Given the description of an element on the screen output the (x, y) to click on. 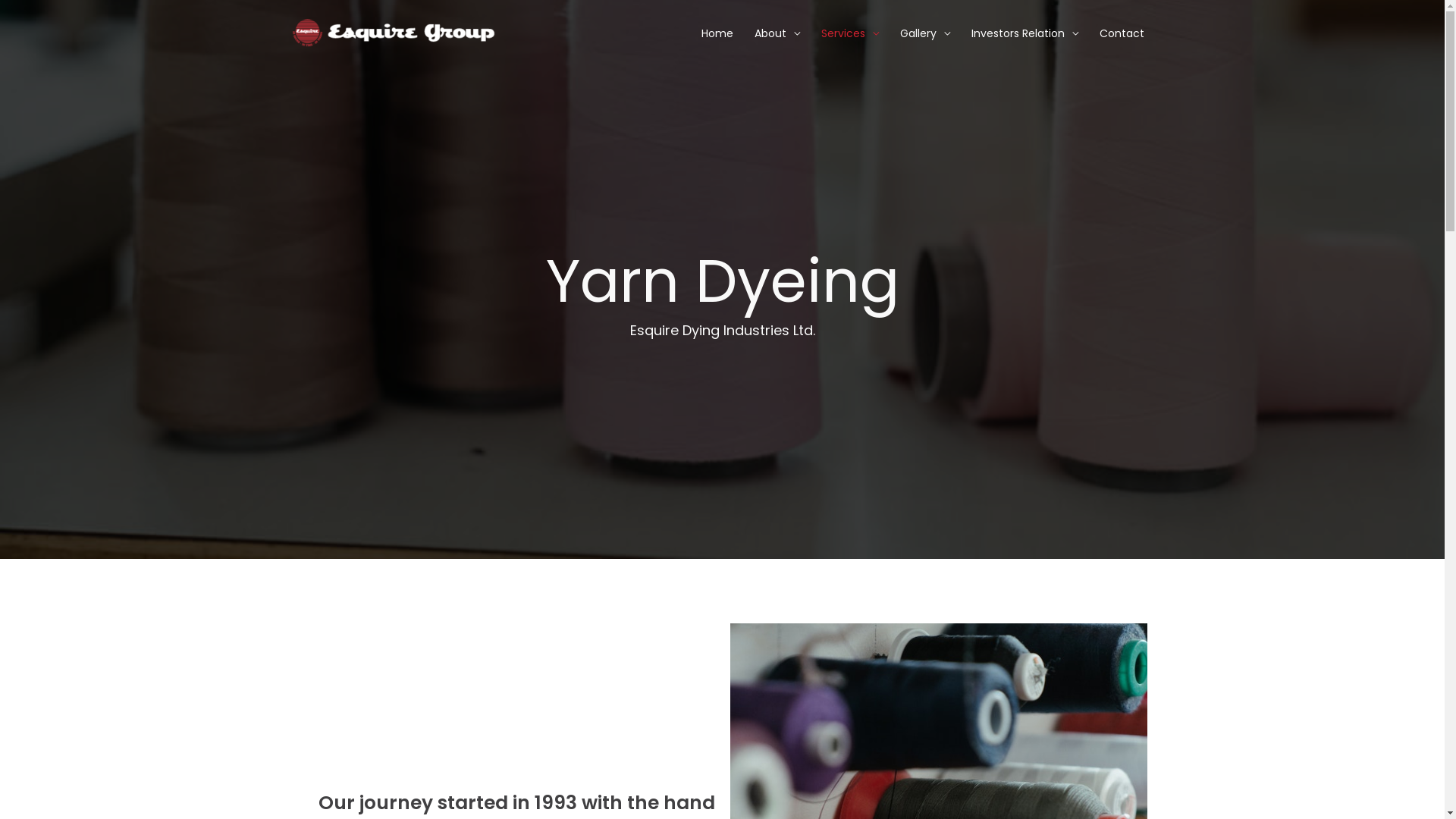
Services Element type: text (848, 32)
Investors Relation Element type: text (1024, 32)
Contact Element type: text (1121, 32)
About Element type: text (776, 32)
Home Element type: text (716, 32)
Gallery Element type: text (924, 32)
